Given the description of an element on the screen output the (x, y) to click on. 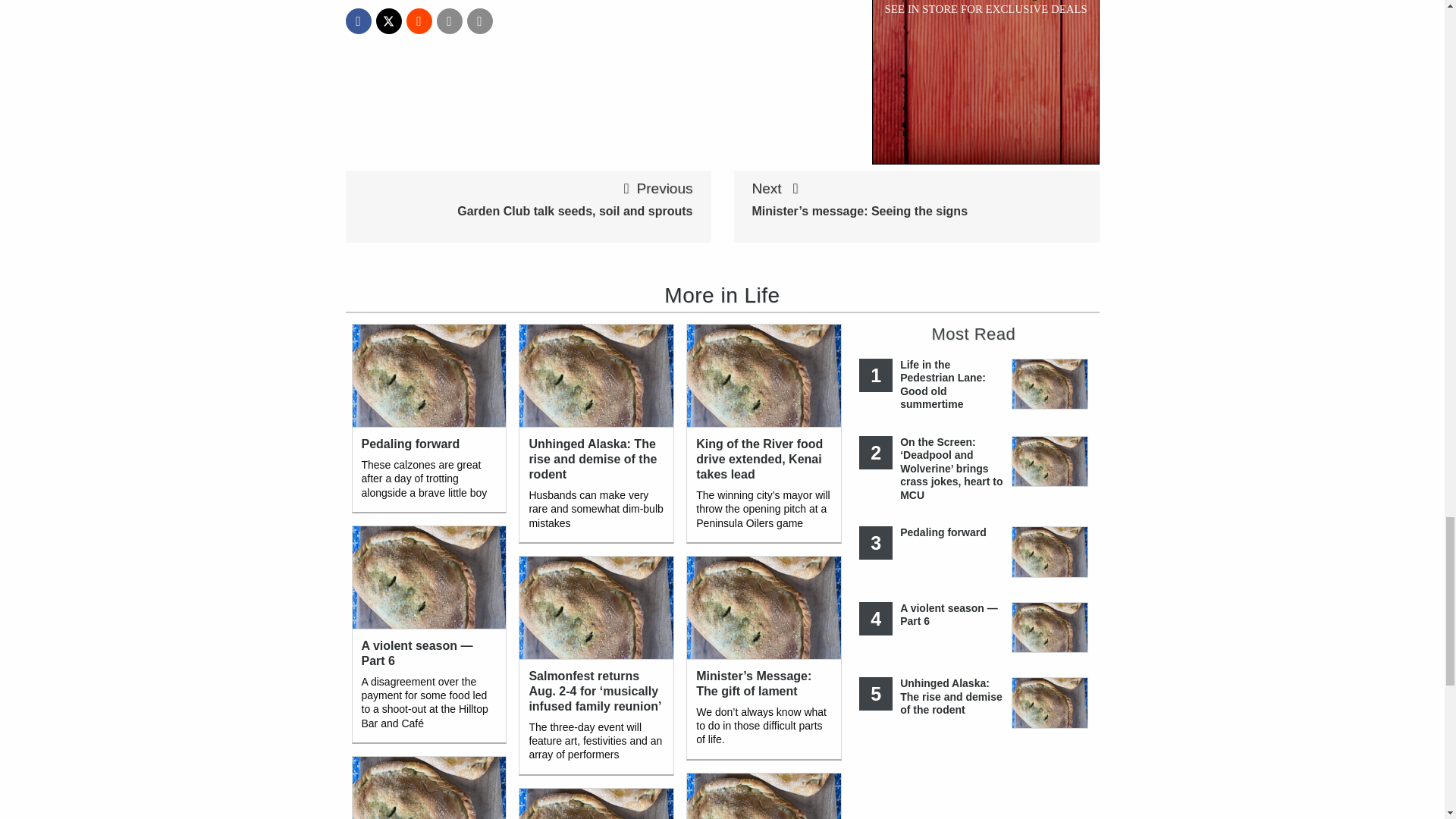
Email story (449, 21)
Post to Twitter (388, 21)
3rd party ad content (985, 82)
Print story (480, 21)
Post to Facebook (358, 21)
Post to Reddit (419, 21)
